Given the description of an element on the screen output the (x, y) to click on. 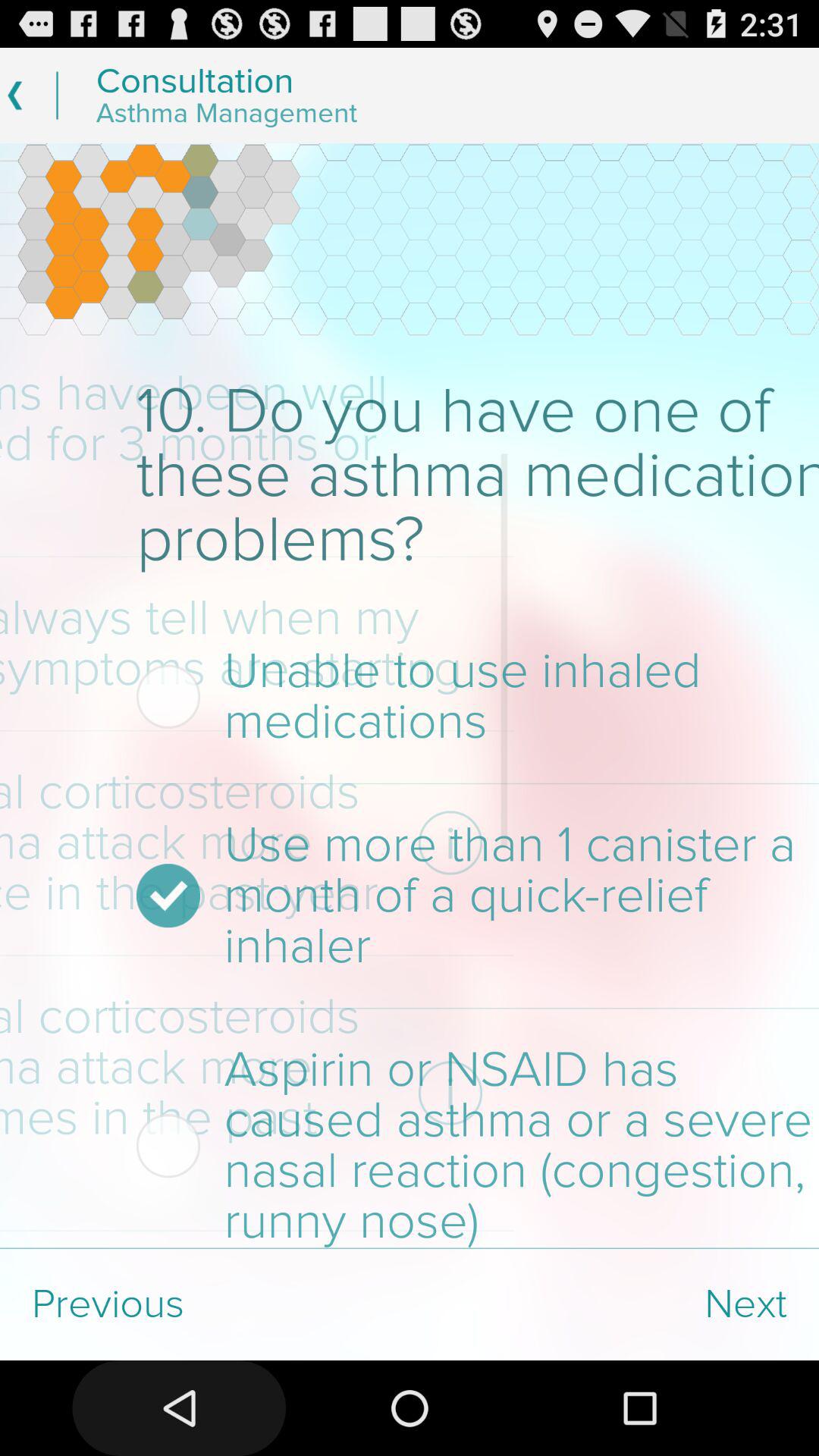
open the item at the bottom left corner (204, 1304)
